Given the description of an element on the screen output the (x, y) to click on. 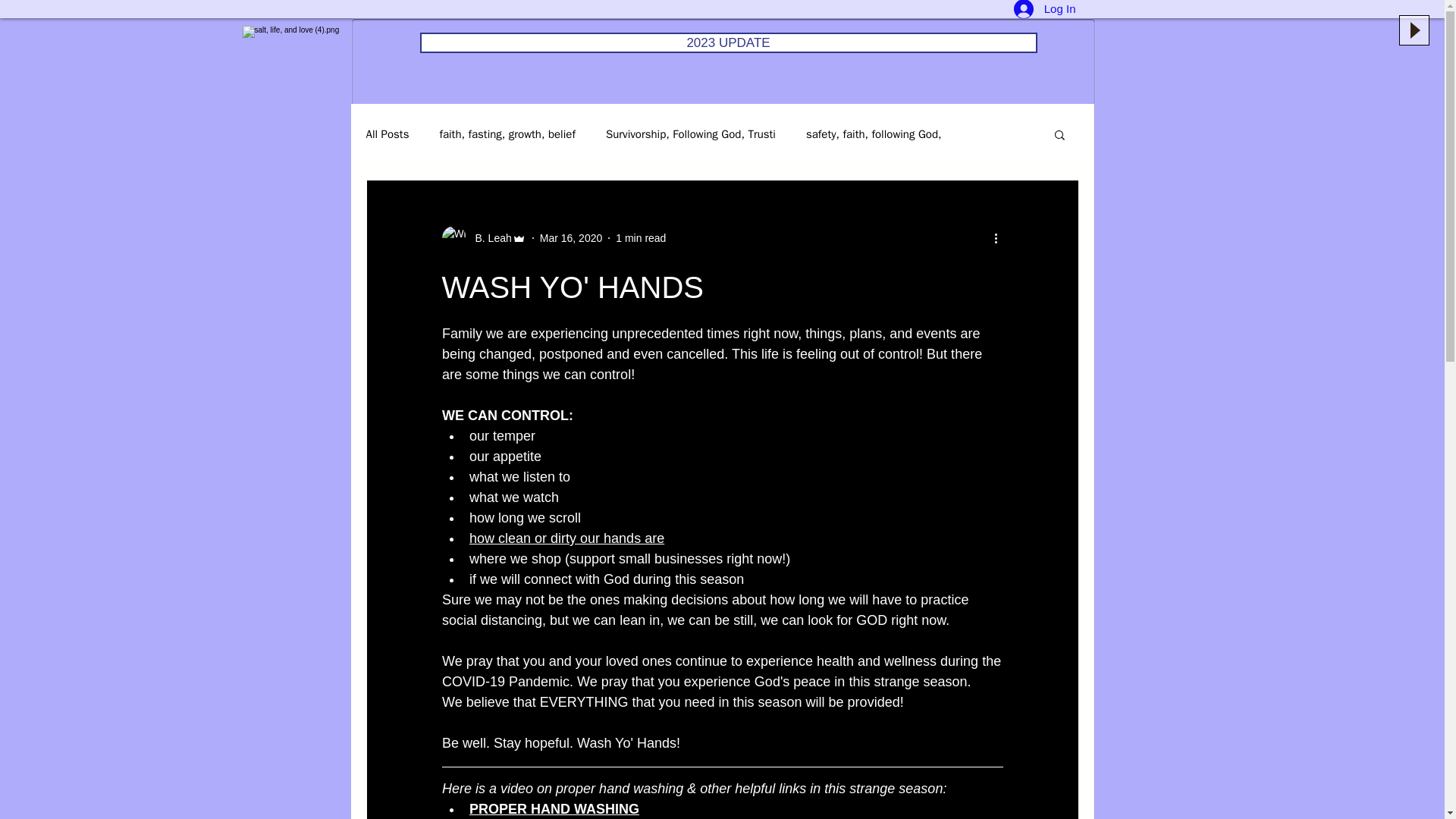
Mar 16, 2020 (571, 237)
B. Leah (488, 238)
safety, faith, following God, (874, 134)
faith, fasting, growth, belief (507, 134)
B. Leah (483, 238)
1 min read (640, 237)
All Posts (387, 134)
how clean or dirty our hands are (565, 538)
Log In (1044, 11)
Survivorship, Following God, Trusti (690, 134)
